Given the description of an element on the screen output the (x, y) to click on. 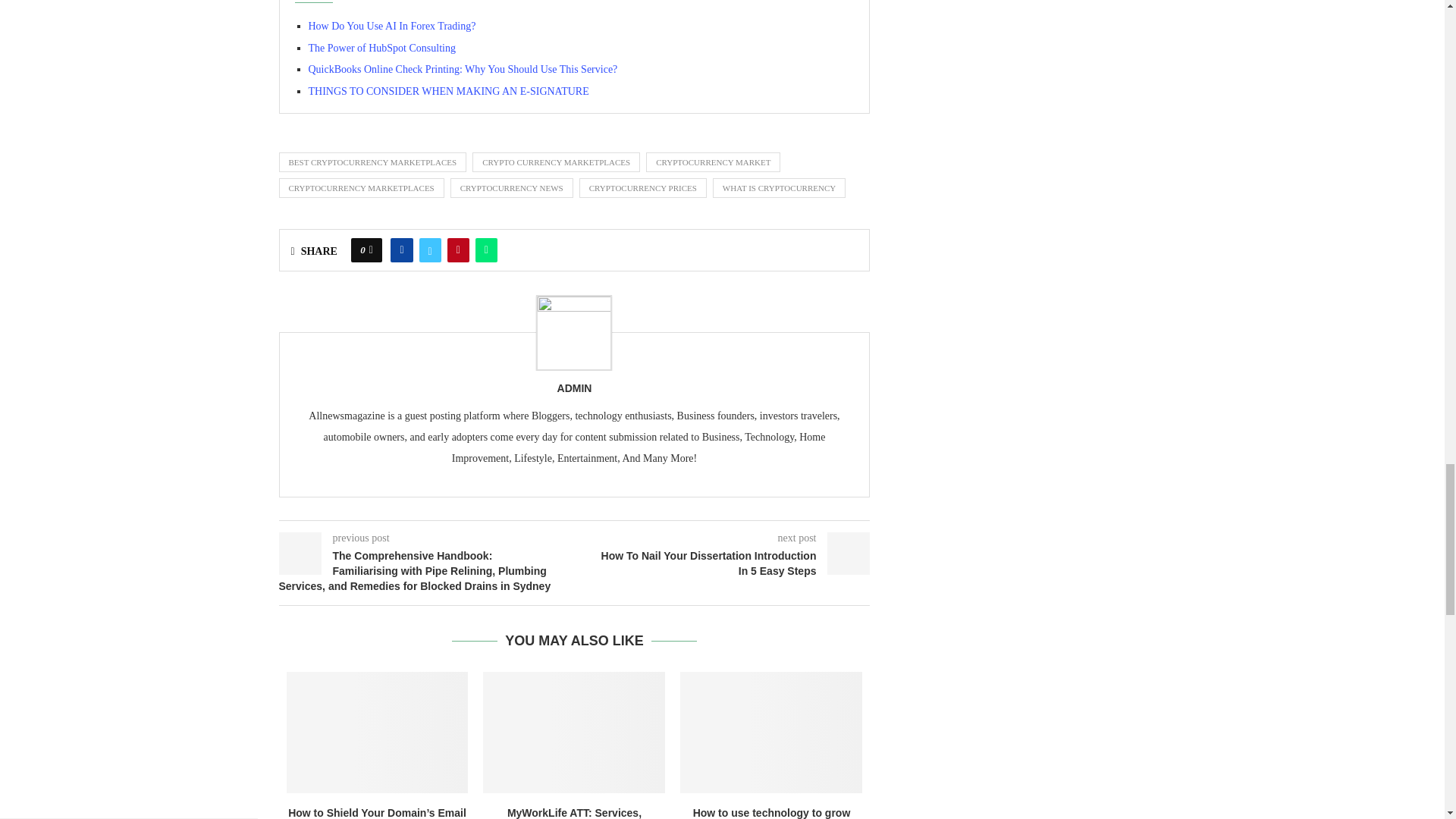
Author Admin (574, 387)
How to use technology to grow your business (770, 732)
